Given the description of an element on the screen output the (x, y) to click on. 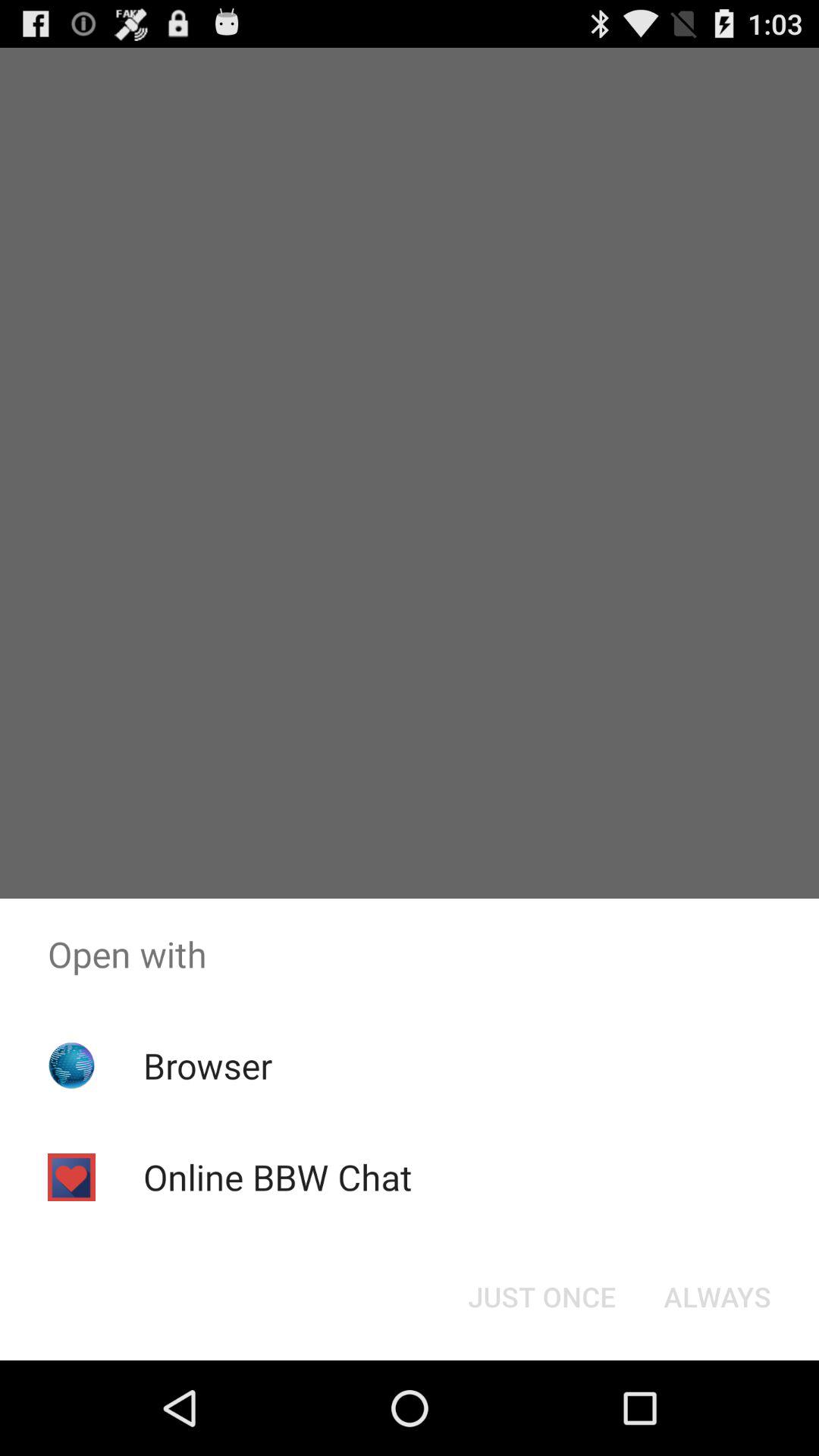
click the online bbw chat icon (277, 1176)
